Given the description of an element on the screen output the (x, y) to click on. 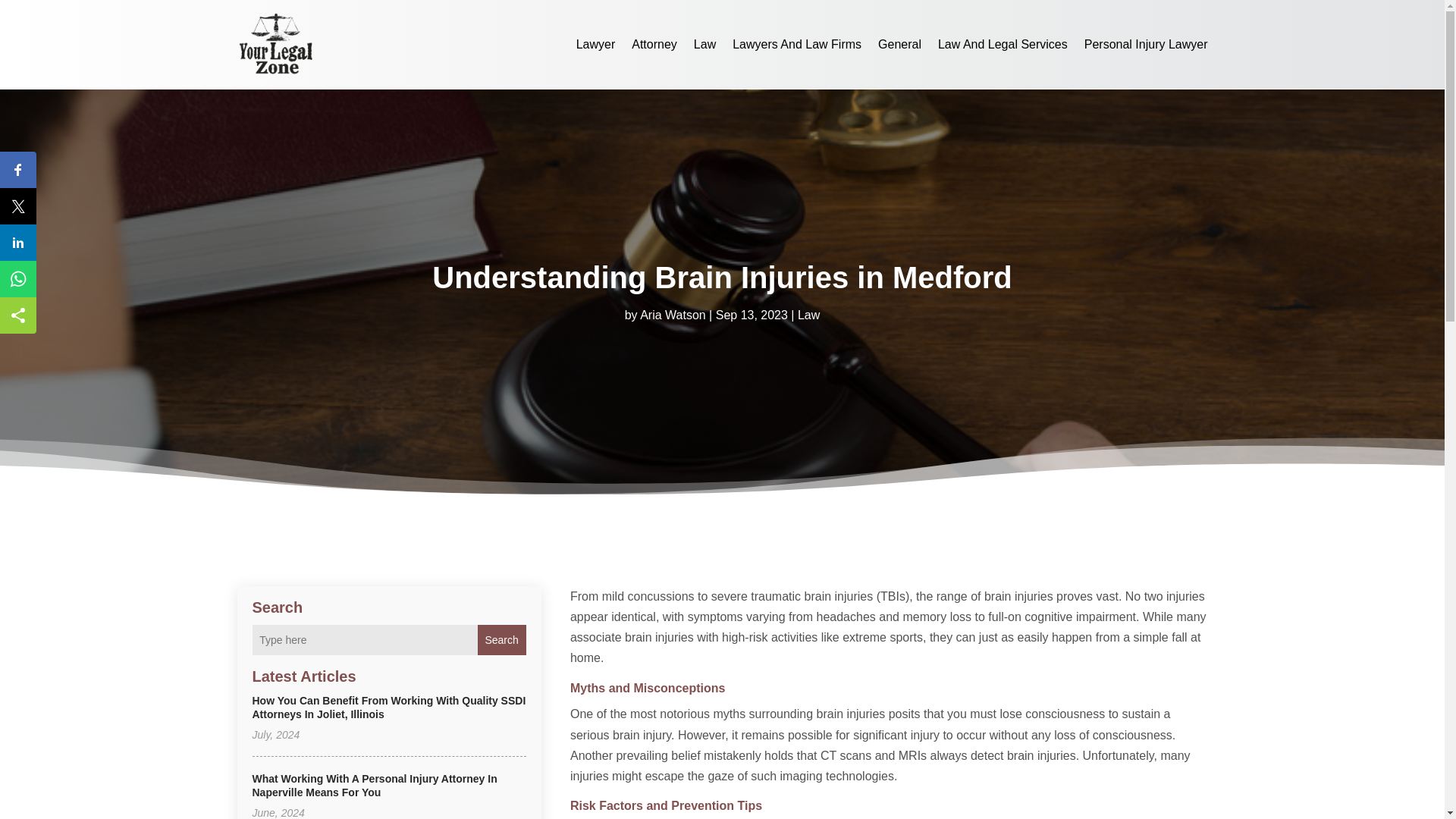
Posts by Aria Watson (673, 314)
Search (501, 639)
Aria Watson (673, 314)
Law (808, 314)
Law And Legal Services (1002, 44)
Lawyers And Law Firms (796, 44)
Personal Injury Lawyer (1146, 44)
